Given the description of an element on the screen output the (x, y) to click on. 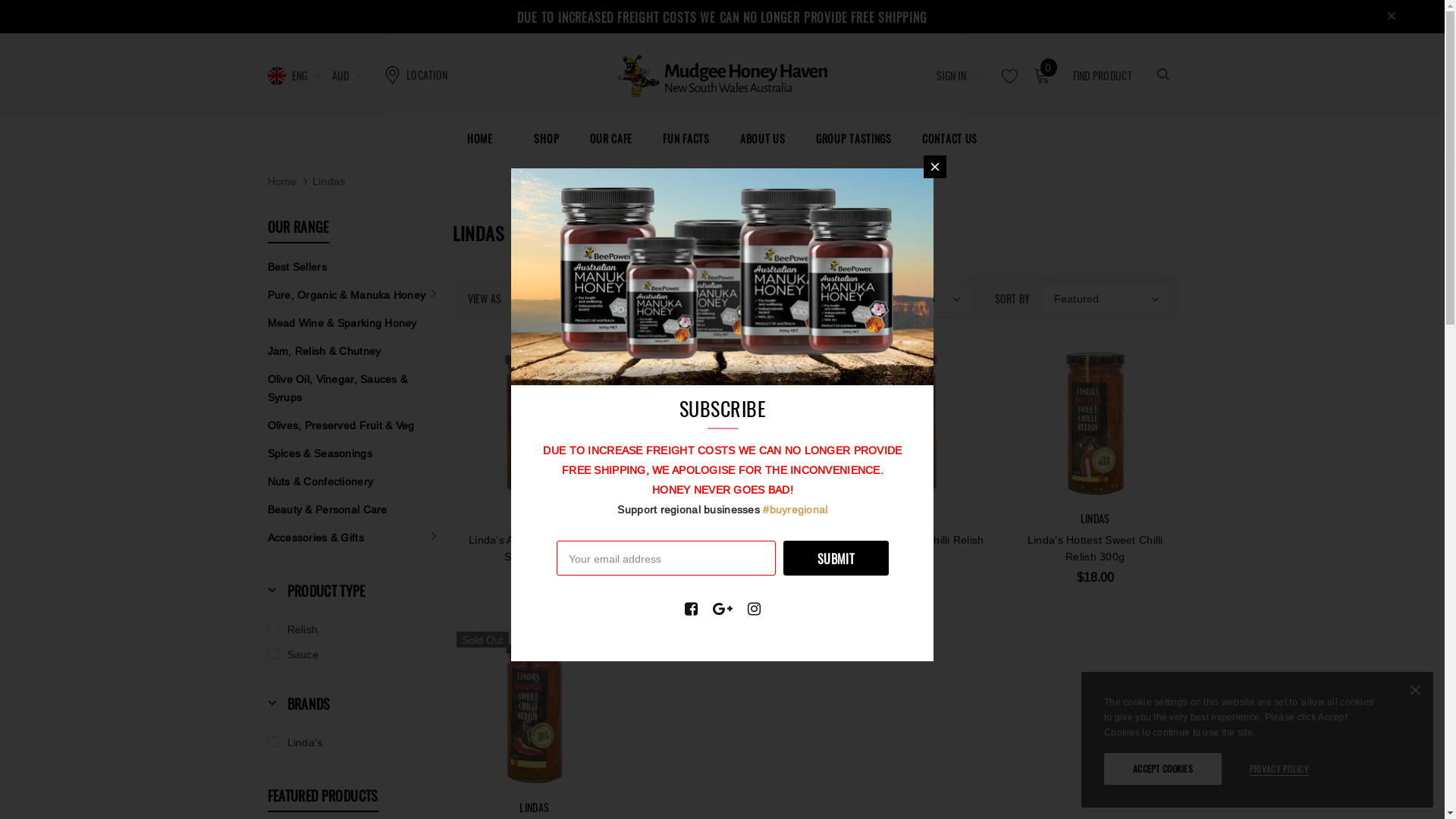
Linda'S Hot Sweet Chilli Relish 300g Element type: text (907, 547)
OUR CAFE Element type: text (611, 137)
Jam, Relish & Chutney Element type: text (323, 350)
SIGN IN Element type: text (957, 75)
Google+ Element type: hover (722, 608)
Home Element type: text (281, 181)
Best Sellers Element type: text (296, 266)
Facebook Element type: hover (690, 608)
Logo Element type: hover (722, 73)
LOCATION Element type: text (415, 74)
GROUP TASTINGS Element type: text (853, 137)
LINDAS Element type: text (534, 807)
Mead Wine & Sparking Honey Element type: text (341, 322)
LINDAS Element type: text (534, 518)
Close Element type: hover (1414, 692)
ABOUT US Element type: text (762, 137)
Accessories & Gifts Element type: text (314, 537)
Beauty & Personal Care Element type: text (326, 509)
Olive Oil, Vinegar, Sauces & Syrups Element type: text (351, 387)
LINDAS Element type: text (721, 518)
Add to Cart Element type: text (1090, 452)
ACCEPT COOKIES Element type: text (1162, 768)
Nuts & Confectionery Element type: text (319, 481)
HOME Element type: text (479, 137)
Add to Cart Element type: text (915, 435)
PRIVACY POLICY Element type: text (1278, 768)
Close Element type: hover (934, 166)
Linda'S Chilli Lime And Ginger Sauce 300g Element type: text (721, 547)
Add to Cart Element type: text (741, 452)
0 Element type: text (1040, 75)
FUN FACTS Element type: text (685, 137)
Instagram Element type: hover (753, 608)
LINDAS Element type: text (907, 518)
LINDAS Element type: text (1095, 518)
My Wishlists Element type: hover (1005, 75)
Lindas Element type: text (328, 181)
Submit Element type: text (835, 557)
Linda'S Asian Plum & Chilli Sauce 300g Element type: text (534, 547)
close Element type: hover (1391, 16)
Pure, Organic & Manuka Honey Element type: text (345, 294)
Spices & Seasonings Element type: text (318, 453)
Linda'S Hottest Sweet Chilli Relish 300g Element type: text (1094, 547)
Add to Cart Element type: text (1264, 452)
CONTACT US Element type: text (949, 137)
Olives, Preserved Fruit & Veg Element type: text (340, 425)
